Given the description of an element on the screen output the (x, y) to click on. 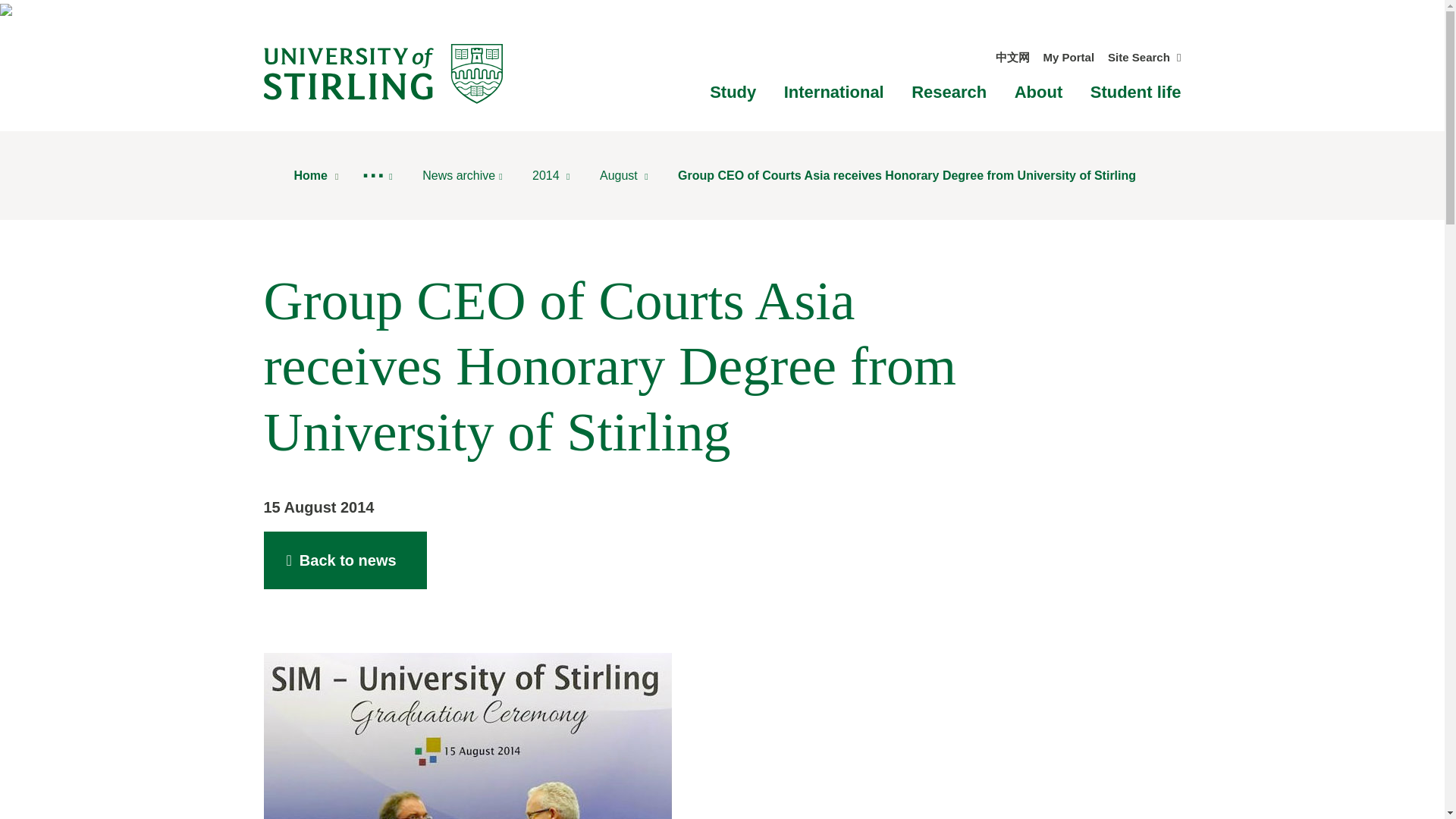
University of Stirling (382, 72)
Study (732, 91)
International (833, 91)
Student life (1135, 91)
About (1038, 91)
My Portal (1068, 56)
Site Search (1144, 56)
Research (949, 91)
